Given the description of an element on the screen output the (x, y) to click on. 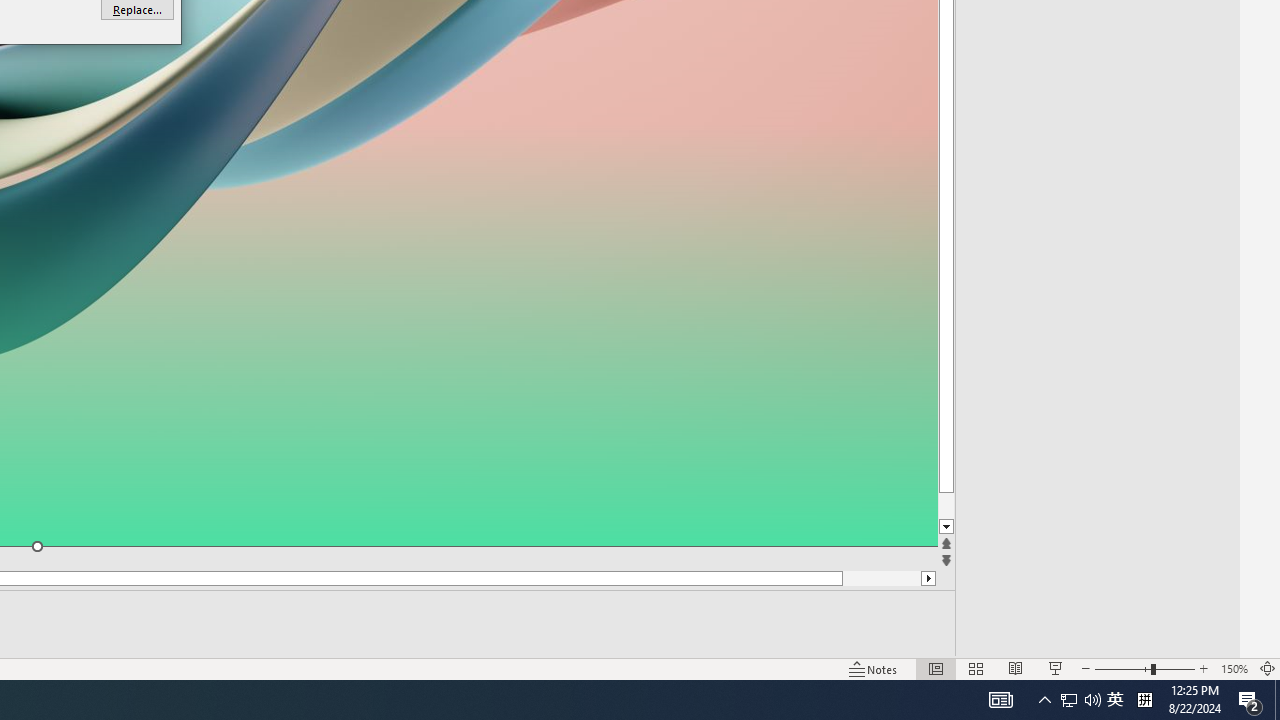
Slide Sorter (975, 668)
Page down (983, 506)
Action Center, 2 new notifications (1250, 699)
User Promoted Notification Area (1080, 699)
Zoom (1144, 668)
Line down (983, 527)
